Given the description of an element on the screen output the (x, y) to click on. 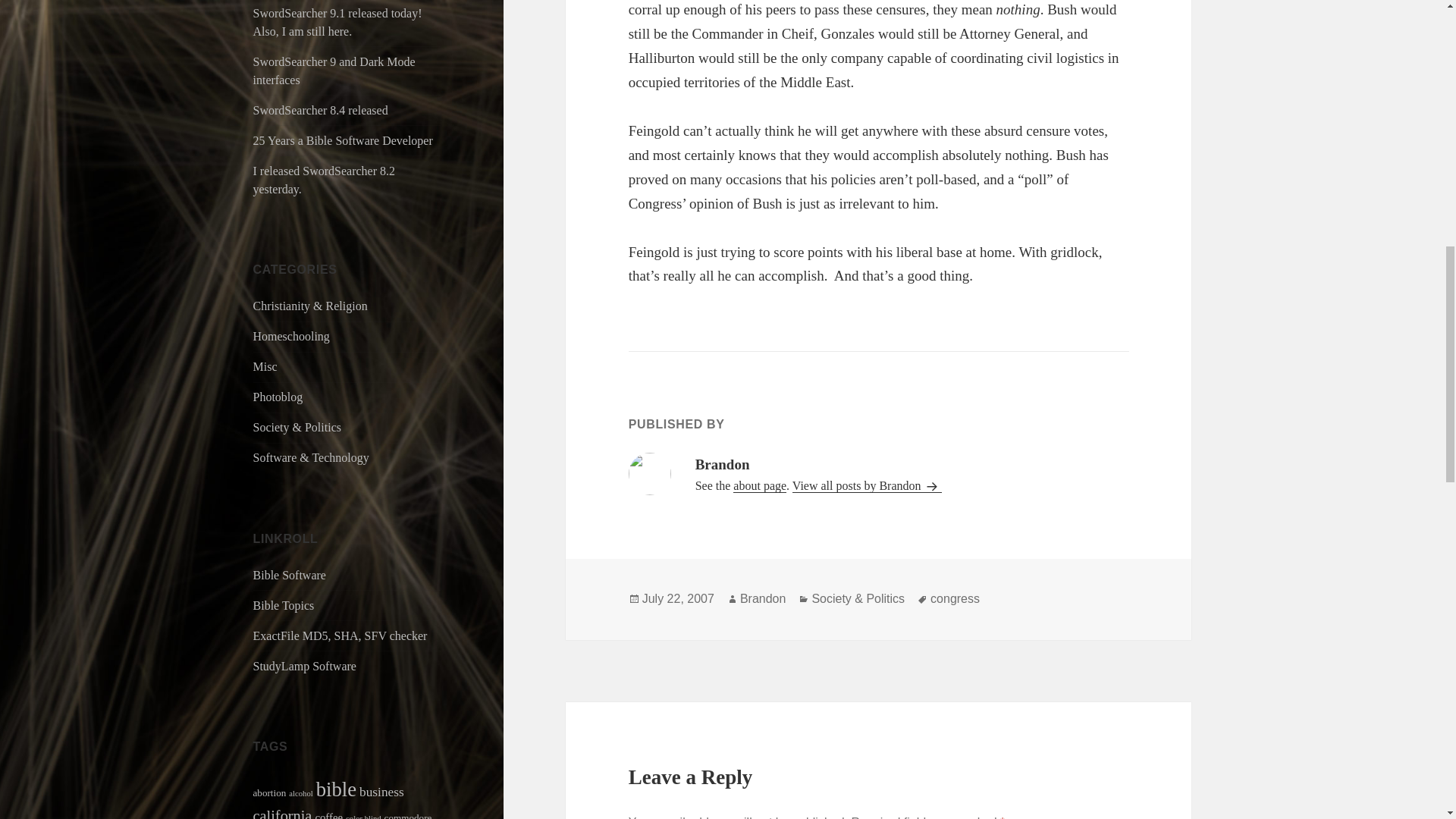
SwordSearcher 8.4 released (320, 110)
I released SwordSearcher 8.2 yesterday. (323, 179)
ExactFile MD5, SHA, SFV checker (340, 635)
business (381, 791)
SwordSearcher 9.1 released today! Also, I am still here. (337, 21)
bible (335, 789)
california (283, 813)
StudyLamp Software (304, 666)
File integrity verification system (340, 635)
Photoblog (277, 396)
alcohol (300, 793)
Bible Topics (283, 604)
commodore (408, 815)
color blind (363, 816)
25 Years a Bible Software Developer (342, 140)
